Given the description of an element on the screen output the (x, y) to click on. 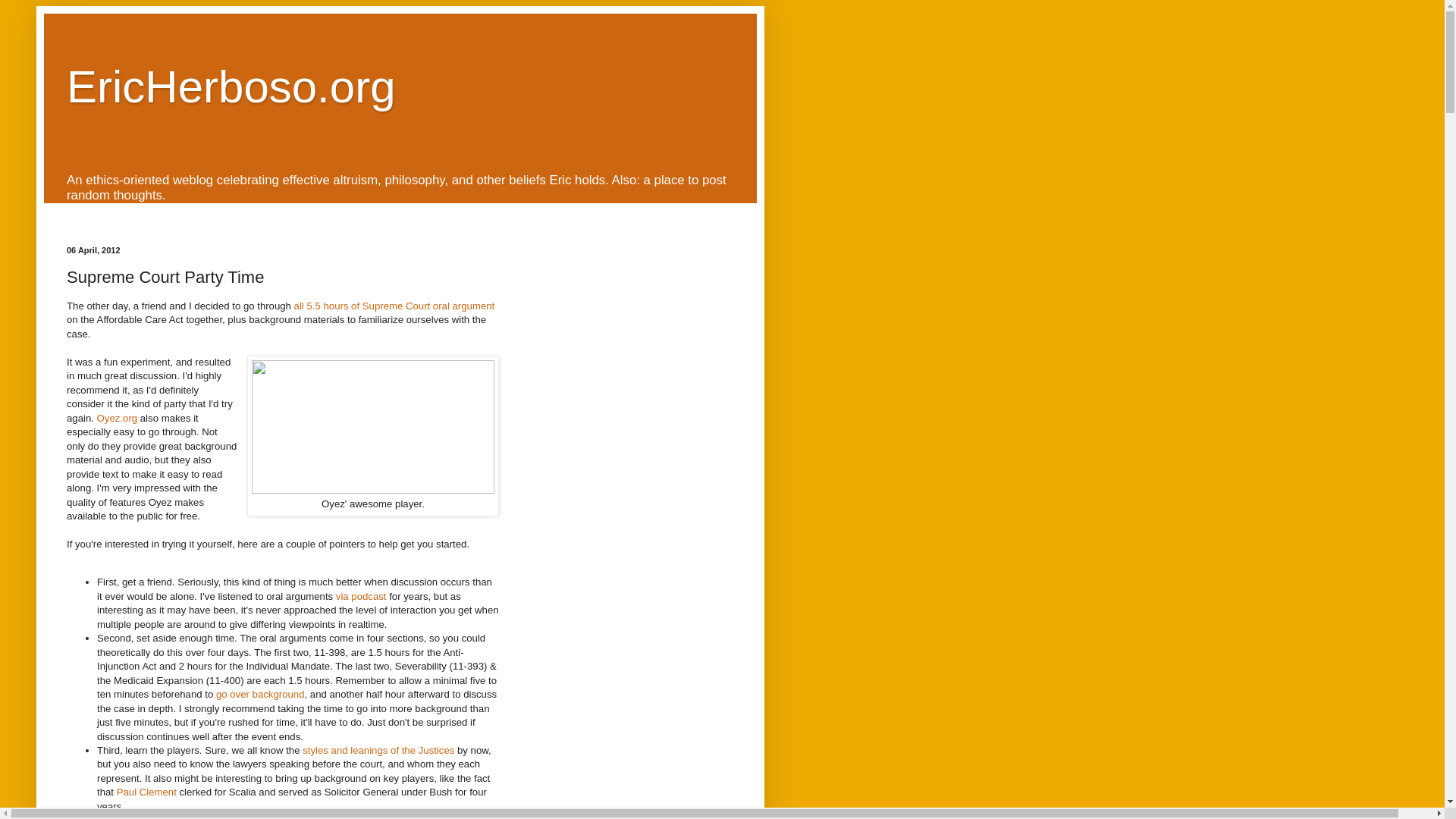
styles and leanings of the Justices (378, 749)
via podcast (361, 595)
Paul Clement (146, 791)
Oyez (215, 816)
all 5.5 hours of Supreme Court oral argument (394, 306)
EricHerboso.org (231, 86)
go over background (259, 694)
Oyez.org (117, 418)
